Given the description of an element on the screen output the (x, y) to click on. 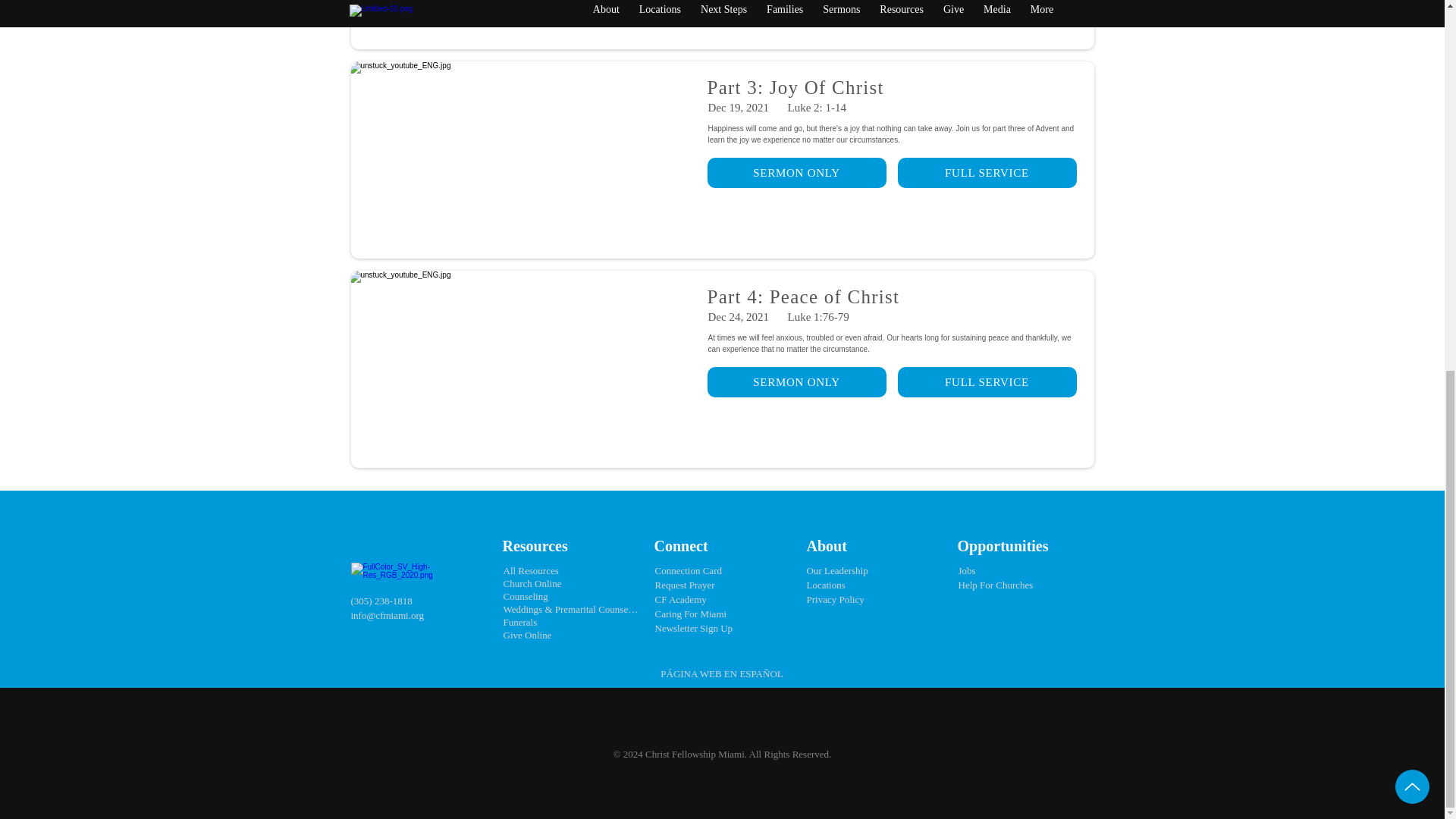
FULL SERVICE (987, 381)
Advent Part 2.jpeg (523, 24)
SERMON ONLY (795, 381)
Advent Part 4.jpeg (523, 369)
SERMON ONLY (795, 173)
FULL SERVICE (987, 173)
Advent Part 3.jpeg (523, 159)
